Given the description of an element on the screen output the (x, y) to click on. 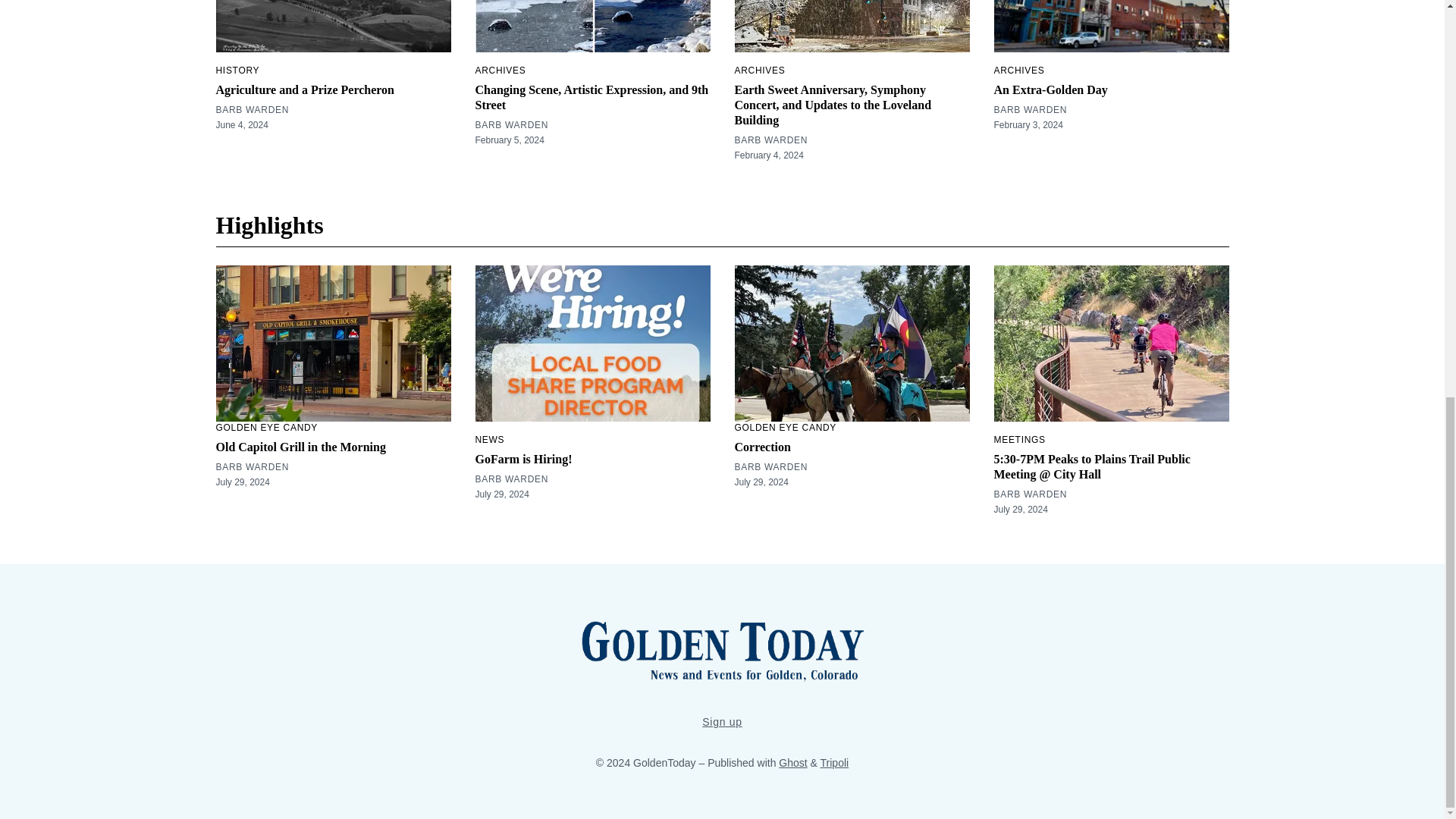
ARCHIVES (758, 70)
BARB WARDEN (511, 124)
HISTORY (237, 70)
Agriculture and a Prize Percheron (304, 89)
Changing Scene, Artistic Expression, and 9th Street (590, 97)
BARB WARDEN (770, 140)
ARCHIVES (499, 70)
BARB WARDEN (251, 110)
ARCHIVES (1017, 70)
An Extra-Golden Day (1049, 89)
